Given the description of an element on the screen output the (x, y) to click on. 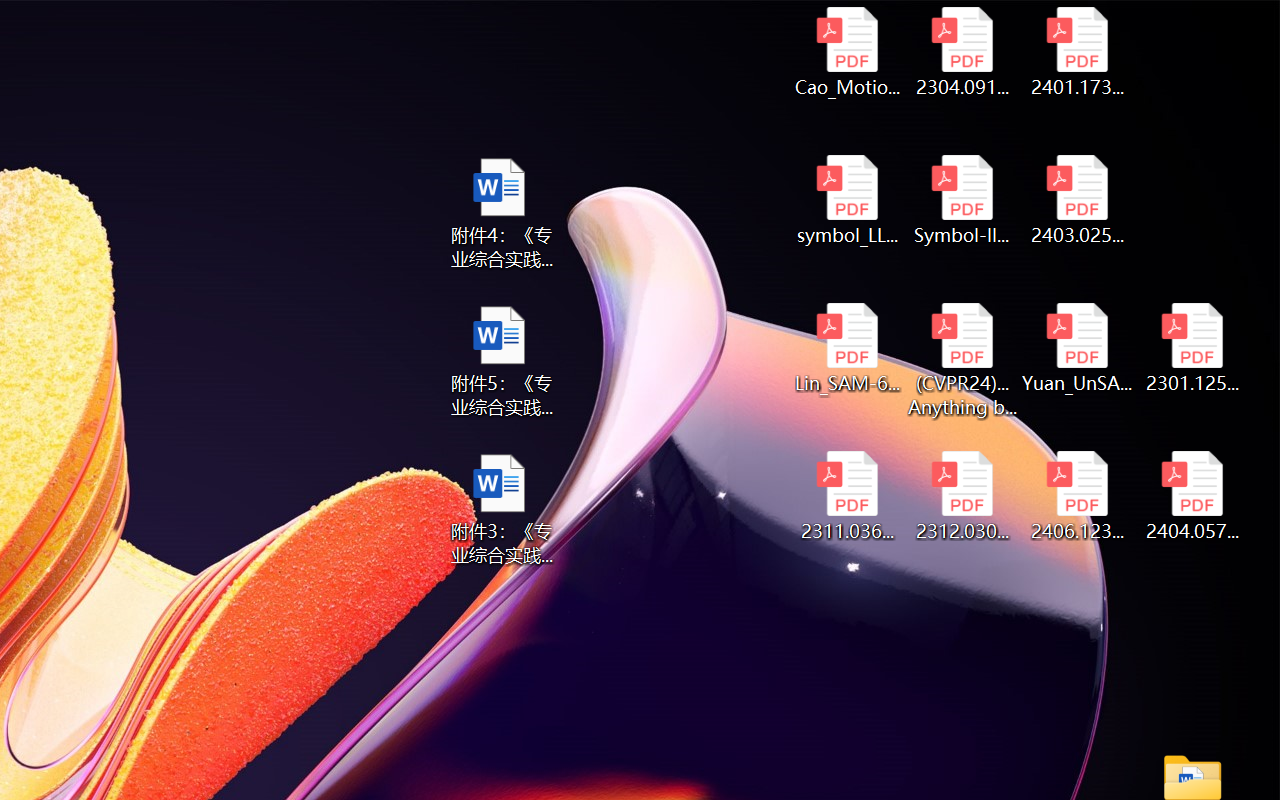
2401.17399v1.pdf (1077, 52)
2404.05719v1.pdf (1192, 496)
